Given the description of an element on the screen output the (x, y) to click on. 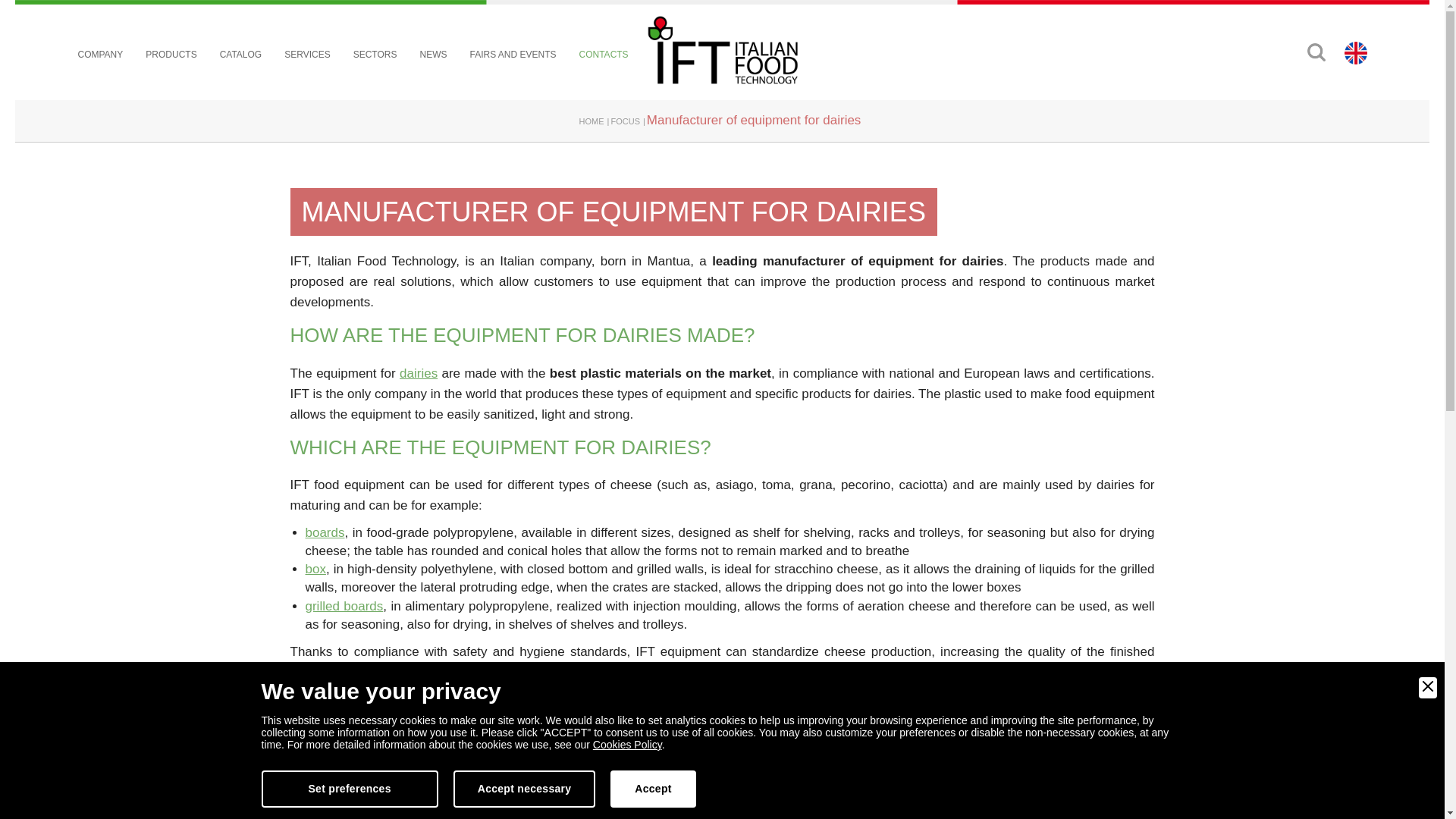
CATALOG (240, 54)
NEWS (432, 54)
home page (721, 50)
FAIRS AND EVENTS (512, 54)
COMPANY (100, 54)
PRODUCTS (170, 54)
CONTACTS (603, 54)
HOME (591, 121)
SECTORS (375, 54)
SERVICES (306, 54)
